Given the description of an element on the screen output the (x, y) to click on. 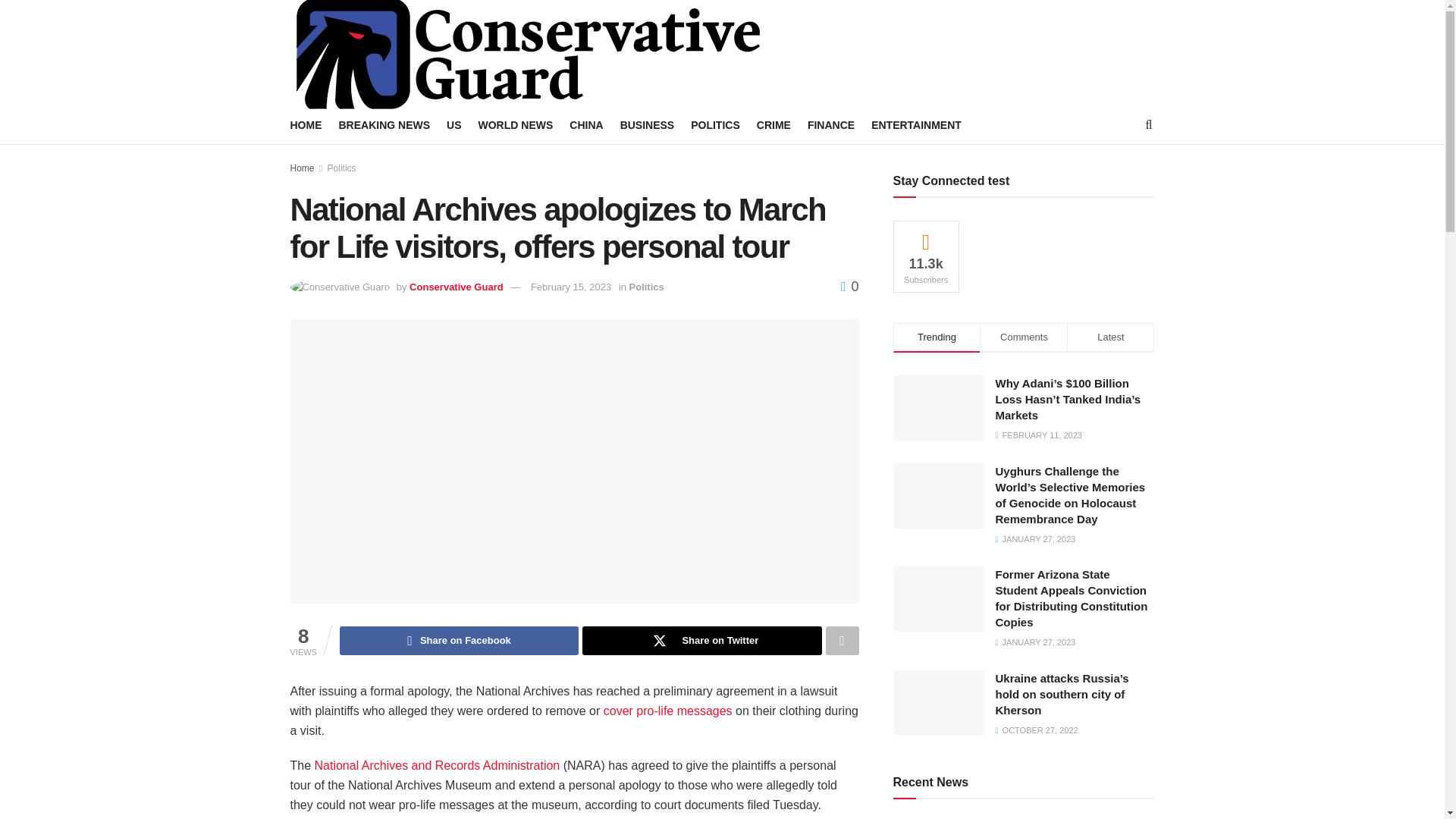
Conservative Guard (456, 286)
BREAKING NEWS (383, 124)
0 (850, 286)
CHINA (585, 124)
HOME (305, 124)
February 15, 2023 (571, 286)
Politics (645, 286)
ENTERTAINMENT (915, 124)
BUSINESS (647, 124)
POLITICS (714, 124)
